Given the description of an element on the screen output the (x, y) to click on. 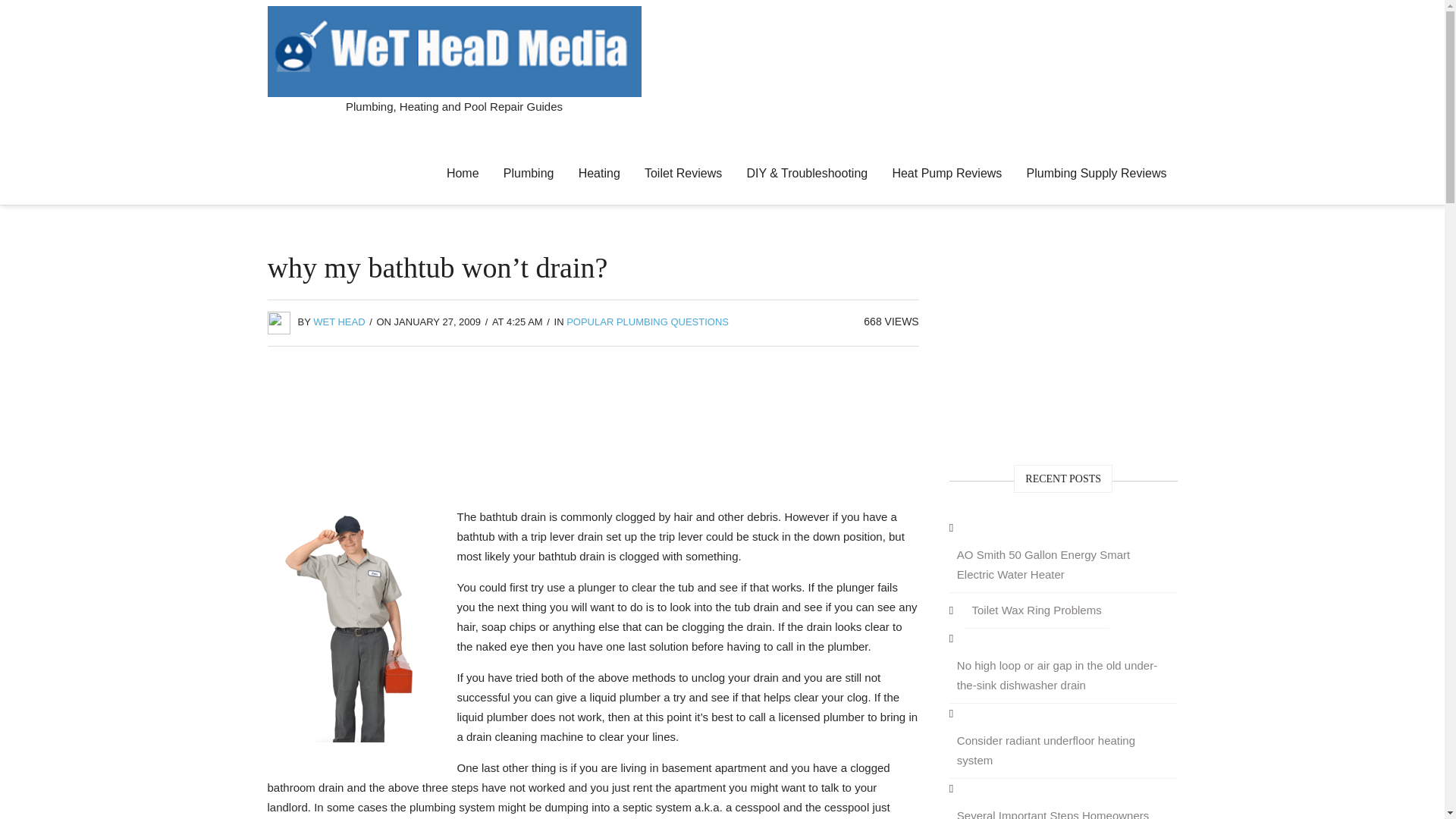
WET HEAD (339, 321)
Heat Pump Reviews (945, 173)
POPULAR PLUMBING QUESTIONS (647, 321)
Heating (598, 173)
Posts by WeT HeaD (339, 321)
Plumbing Supply Reviews (1096, 173)
Home (462, 173)
Plumbing (528, 173)
Toilet Reviews (682, 173)
Advertisement (592, 430)
WeT HeaD Knowledge (352, 624)
Advertisement (1063, 344)
